Given the description of an element on the screen output the (x, y) to click on. 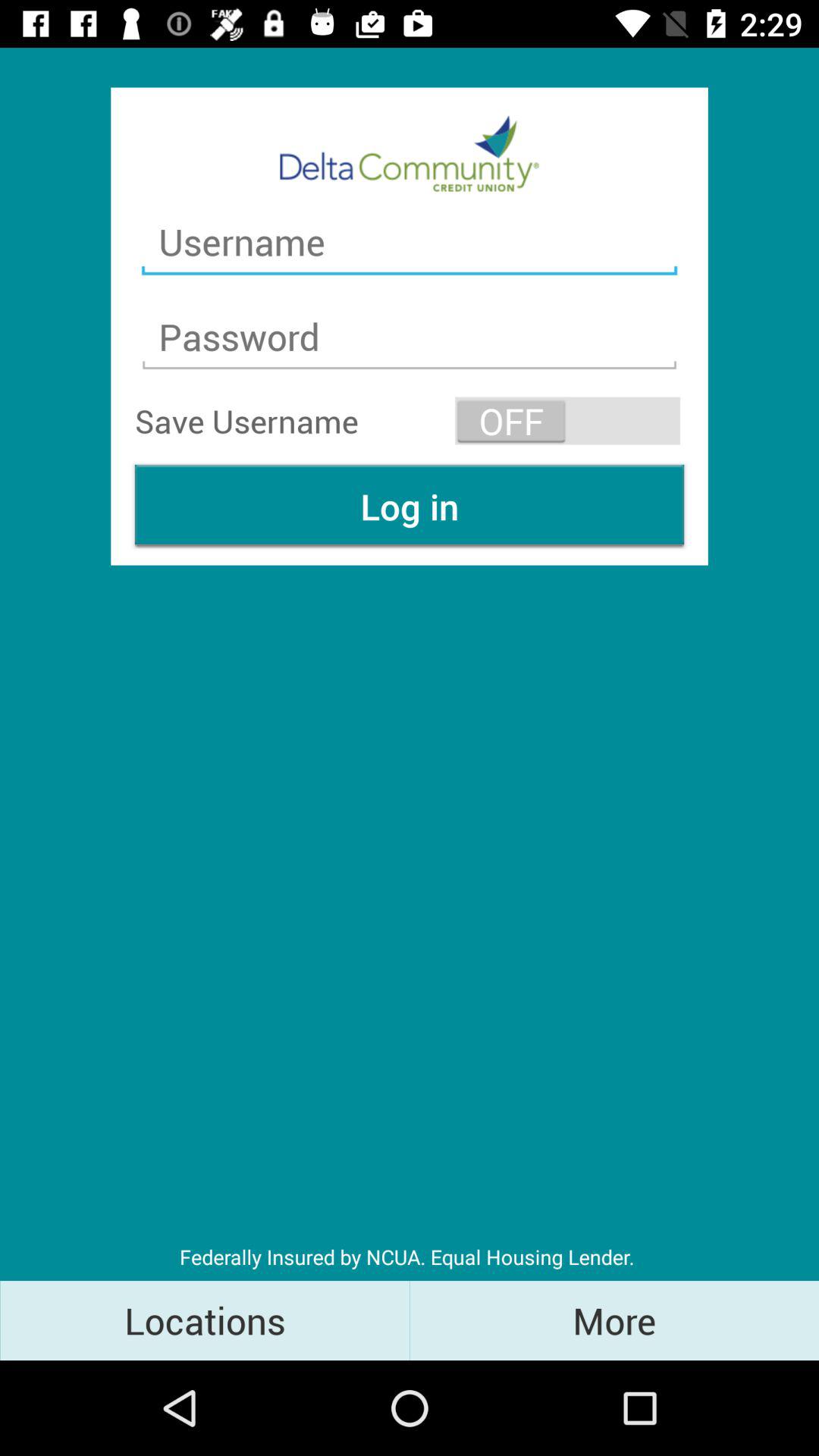
turn off item to the right of the locations icon (614, 1320)
